Given the description of an element on the screen output the (x, y) to click on. 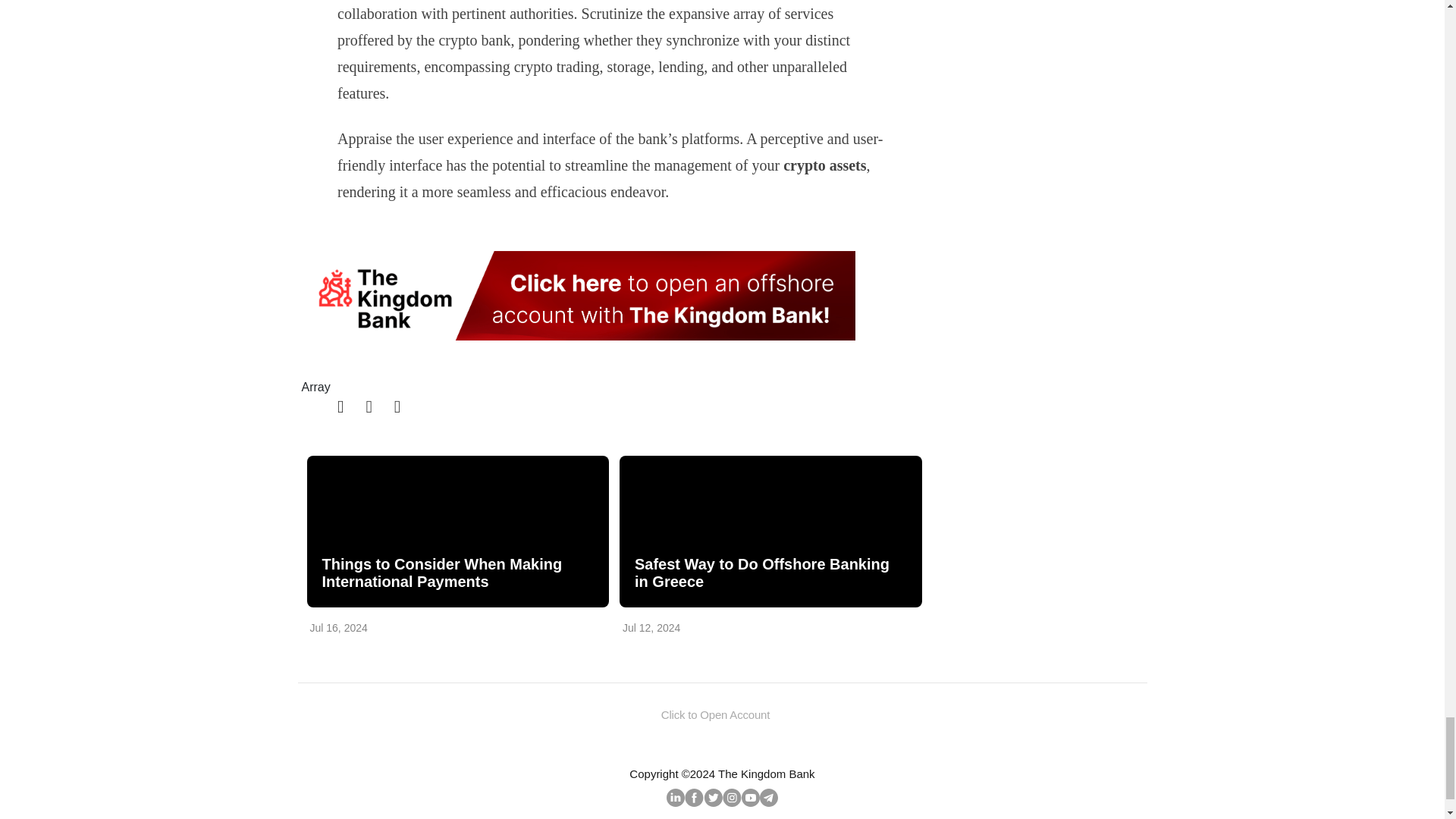
Safest Way to Do Offshore Banking in Greece (770, 531)
Things to Consider When Making International Payments (456, 531)
Safest Way to Do Offshore Banking in Greece (769, 573)
Things to Consider When Making International Payments (456, 573)
